Given the description of an element on the screen output the (x, y) to click on. 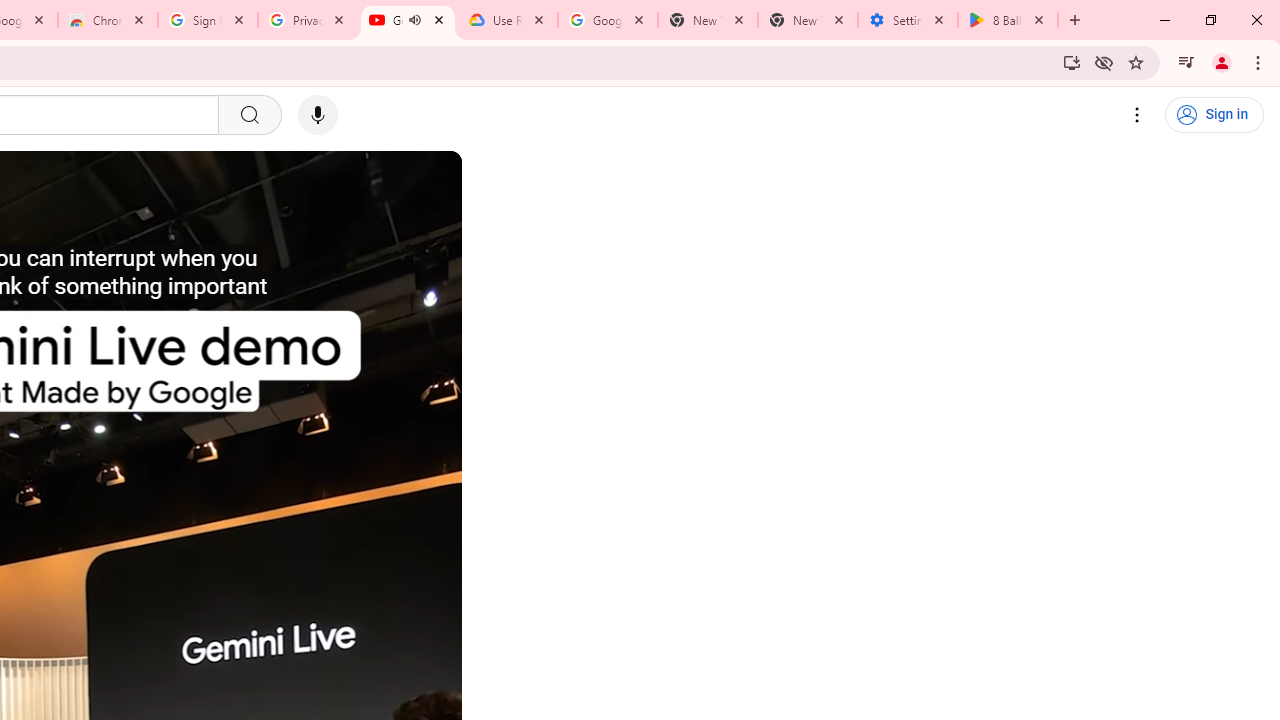
8 Ball Pool - Apps on Google Play (1007, 20)
Settings - System (907, 20)
